Given the description of an element on the screen output the (x, y) to click on. 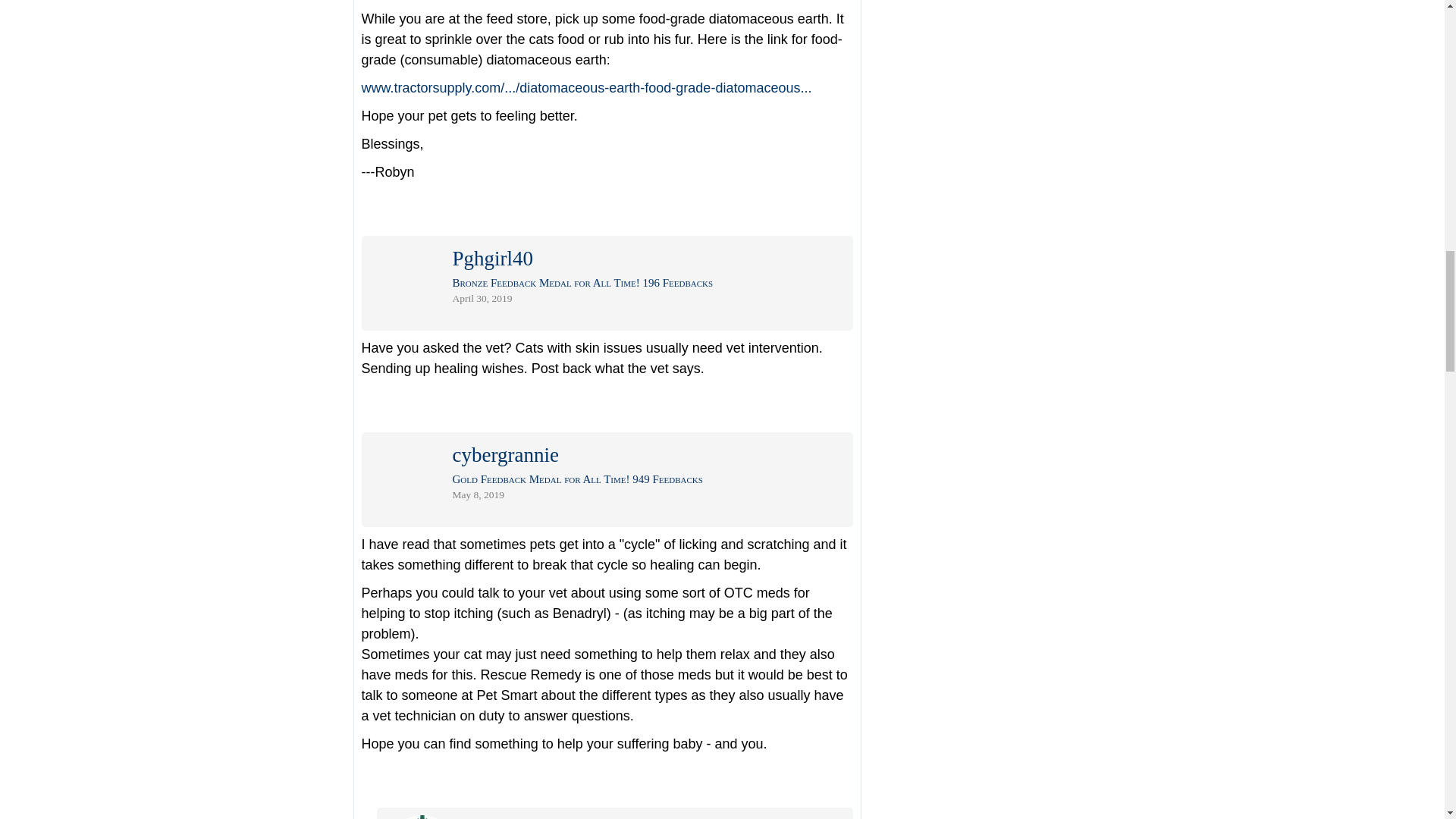
cybergrannie (504, 458)
Pghgirl40 (491, 261)
